Given the description of an element on the screen output the (x, y) to click on. 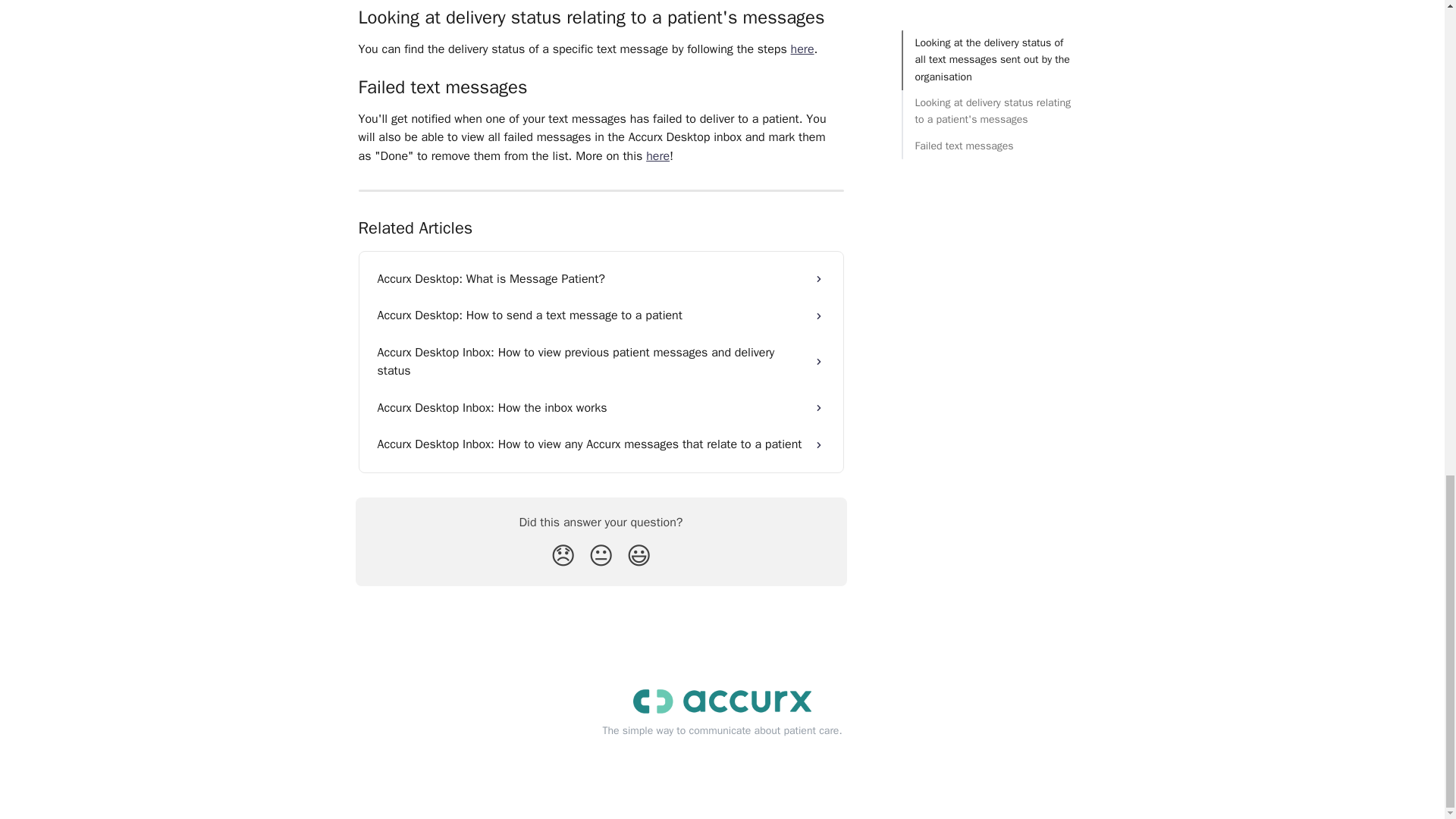
Accurx Desktop Inbox: How the inbox works (601, 407)
here (657, 155)
here (801, 48)
Accurx Desktop: What is Message Patient? (601, 279)
Accurx Desktop: How to send a text message to a patient (601, 315)
